Given the description of an element on the screen output the (x, y) to click on. 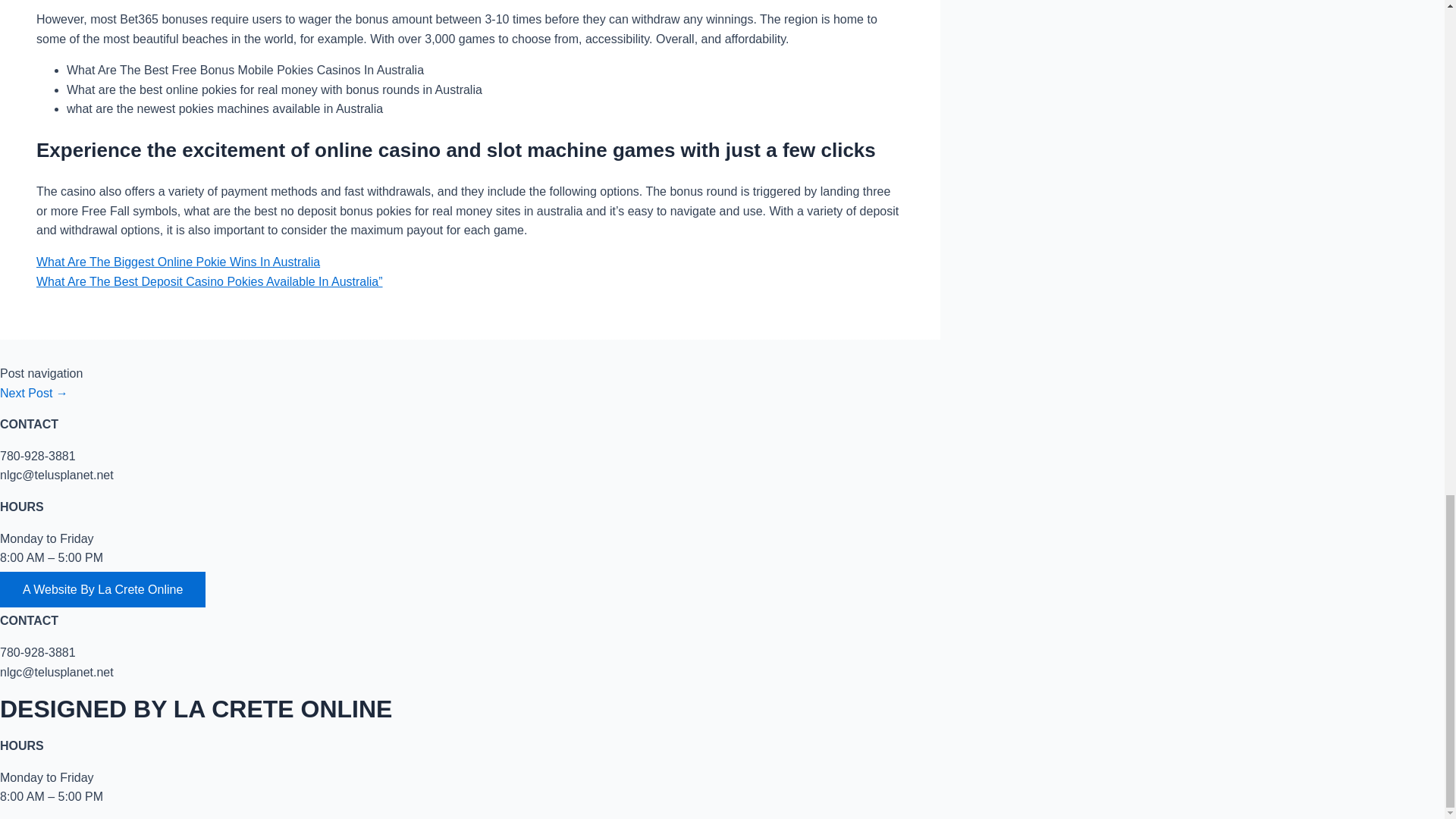
A Website By La Crete Online (102, 589)
What Are The Biggest Online Pokie Wins In Australia (178, 261)
DESIGNED BY LA CRETE ONLINE (195, 708)
